Given the description of an element on the screen output the (x, y) to click on. 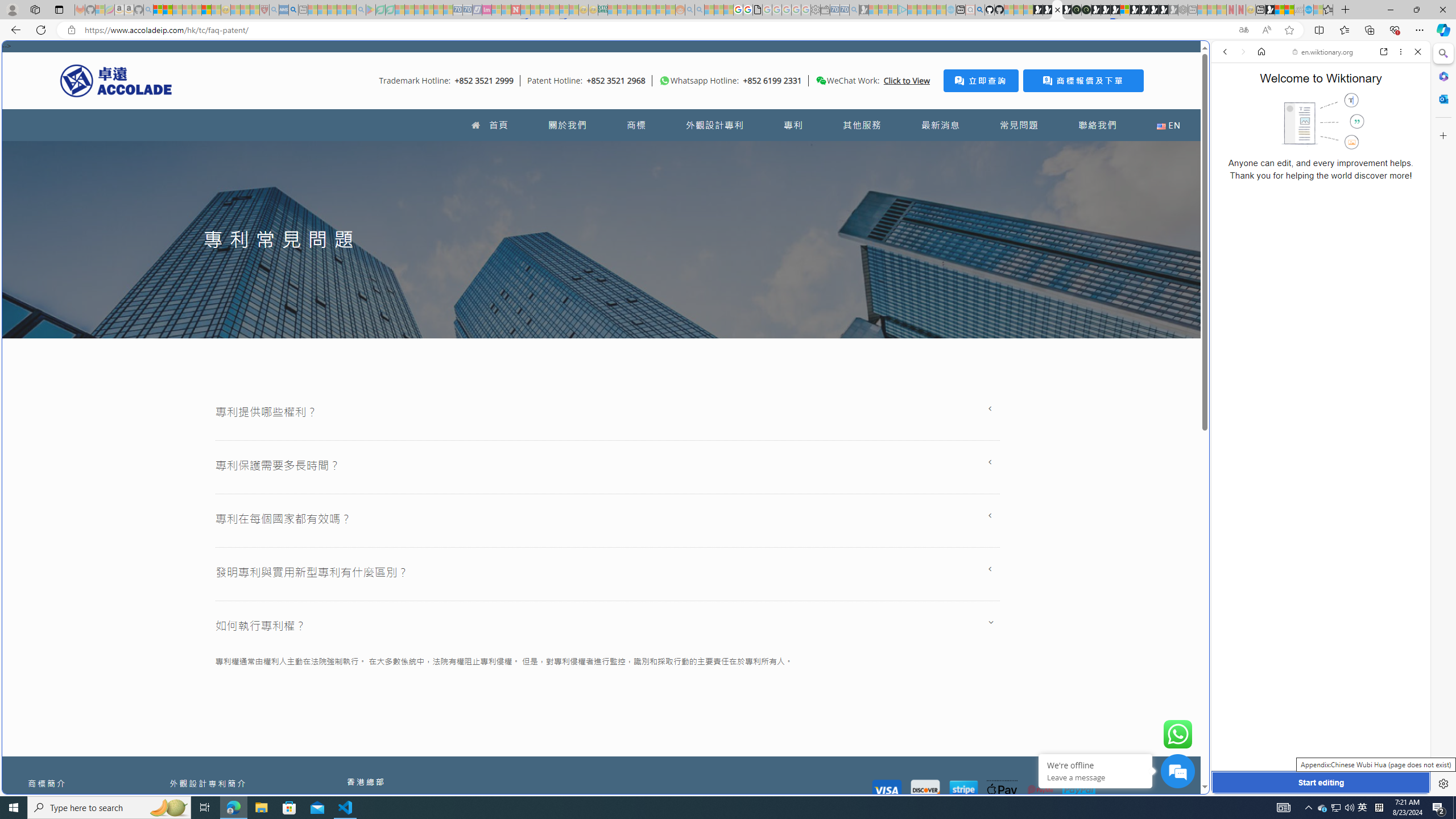
Frequently visited (965, 151)
EN (1168, 124)
